Given the description of an element on the screen output the (x, y) to click on. 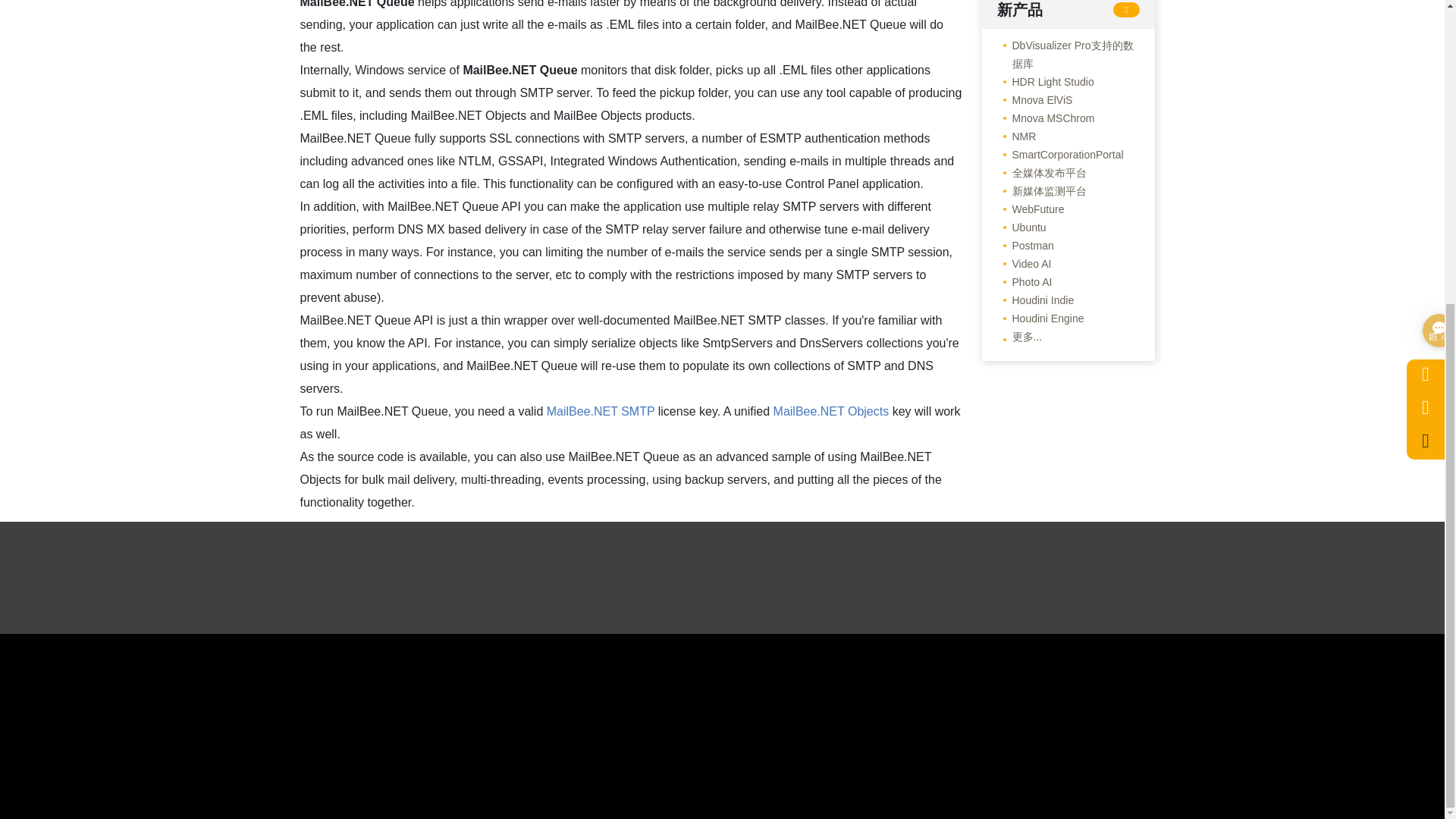
Postman (1023, 245)
Houdini Indie (1034, 300)
Video AI (1023, 263)
WebFuture (1029, 208)
Mnova ElViS (1033, 99)
Ubuntu (1020, 227)
NMR (1015, 136)
SmartCorporationPortal (1058, 154)
Mnova MSChrom (1044, 117)
Houdini Engine (1039, 318)
